Given the description of an element on the screen output the (x, y) to click on. 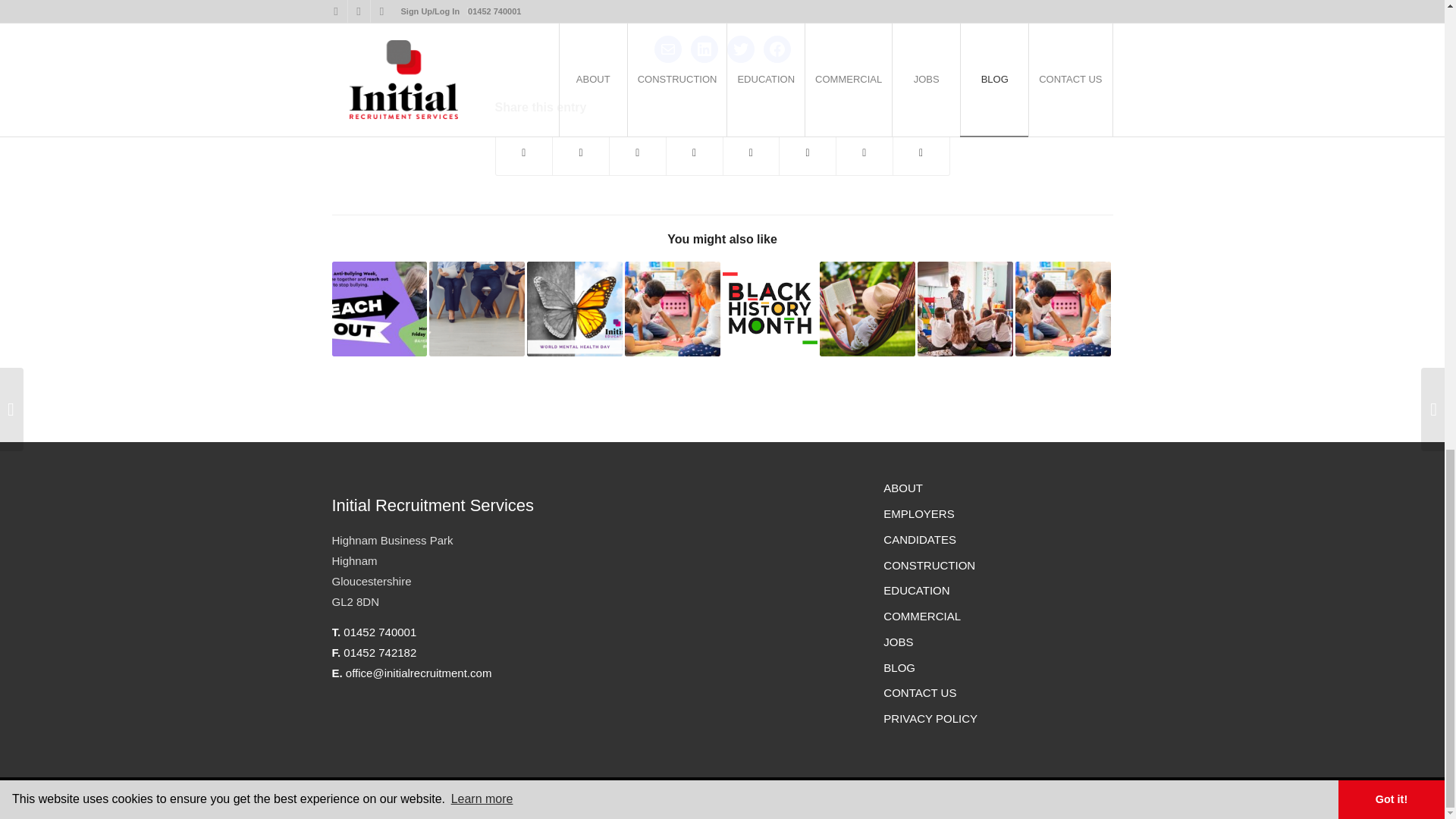
Anti-Bullying Week in Schools (379, 309)
